Given the description of an element on the screen output the (x, y) to click on. 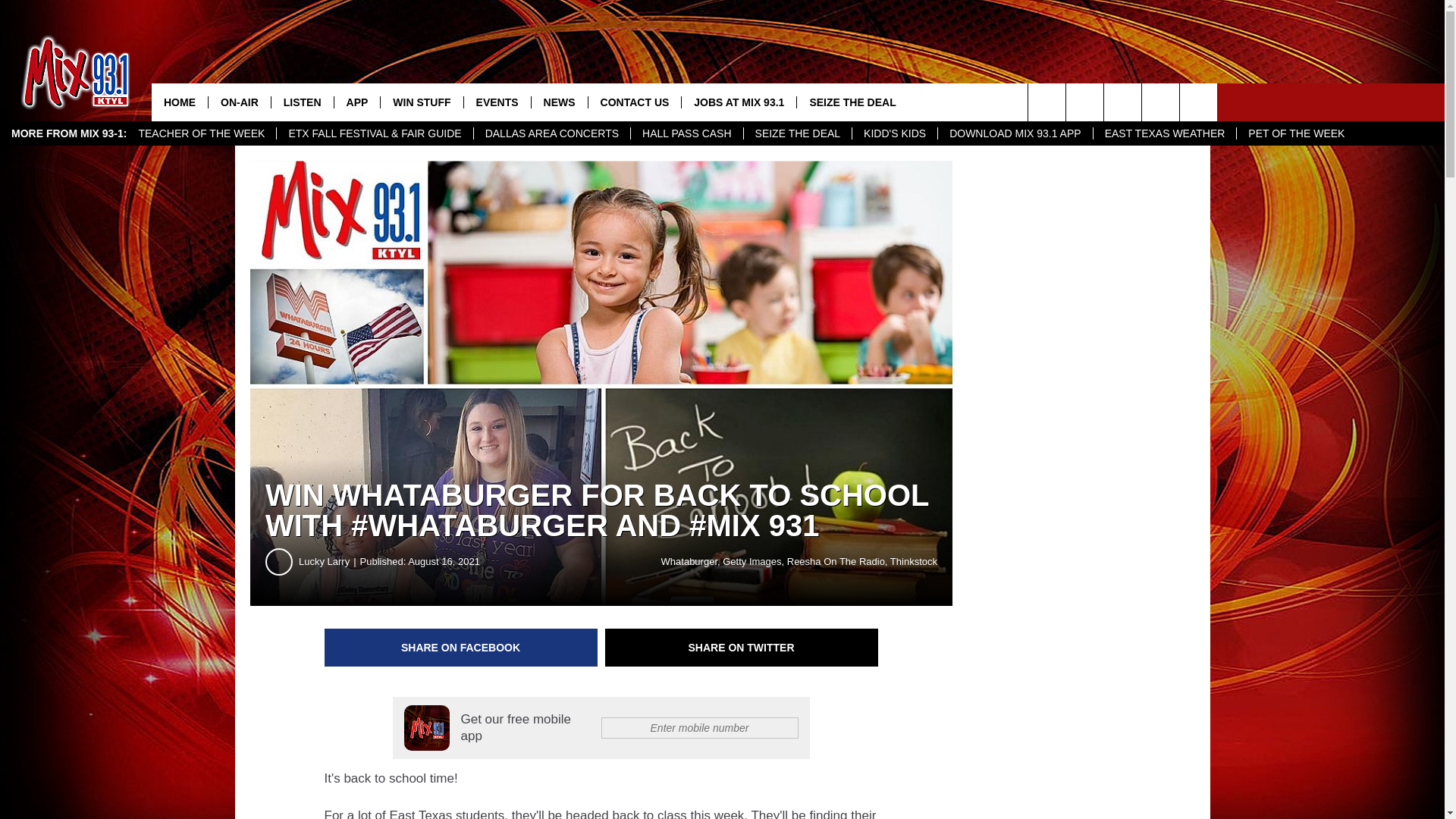
TEACHER OF THE WEEK (201, 133)
DOWNLOAD MIX 93.1 APP (1015, 133)
HOME (179, 102)
Share on Twitter (741, 647)
EAST TEXAS WEATHER (1164, 133)
LISTEN (301, 102)
DALLAS AREA CONCERTS (551, 133)
SEIZE THE DEAL (796, 133)
KIDD'S KIDS (894, 133)
PET OF THE WEEK (1295, 133)
